Given the description of an element on the screen output the (x, y) to click on. 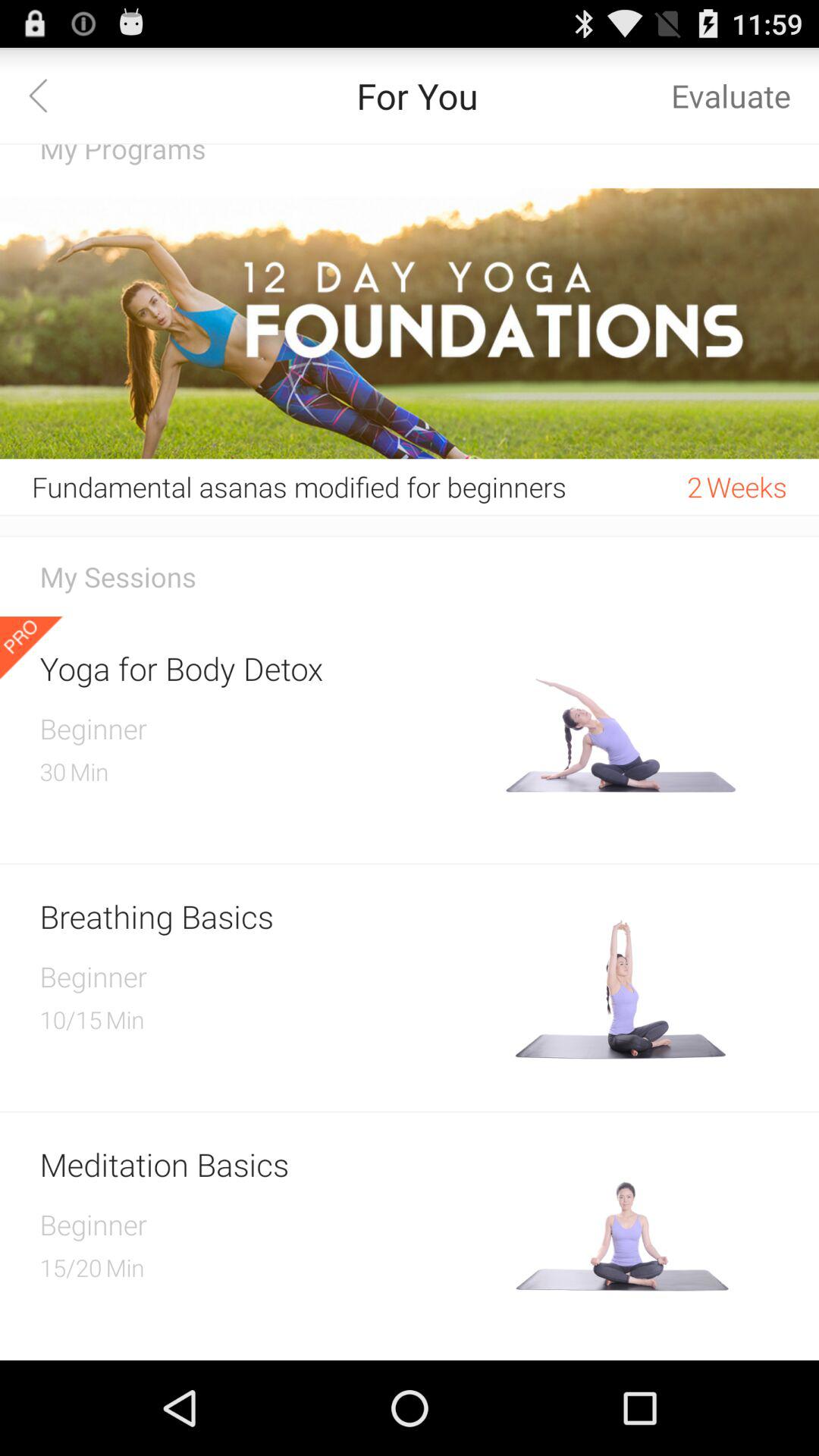
select the breathing basics (266, 915)
